Given the description of an element on the screen output the (x, y) to click on. 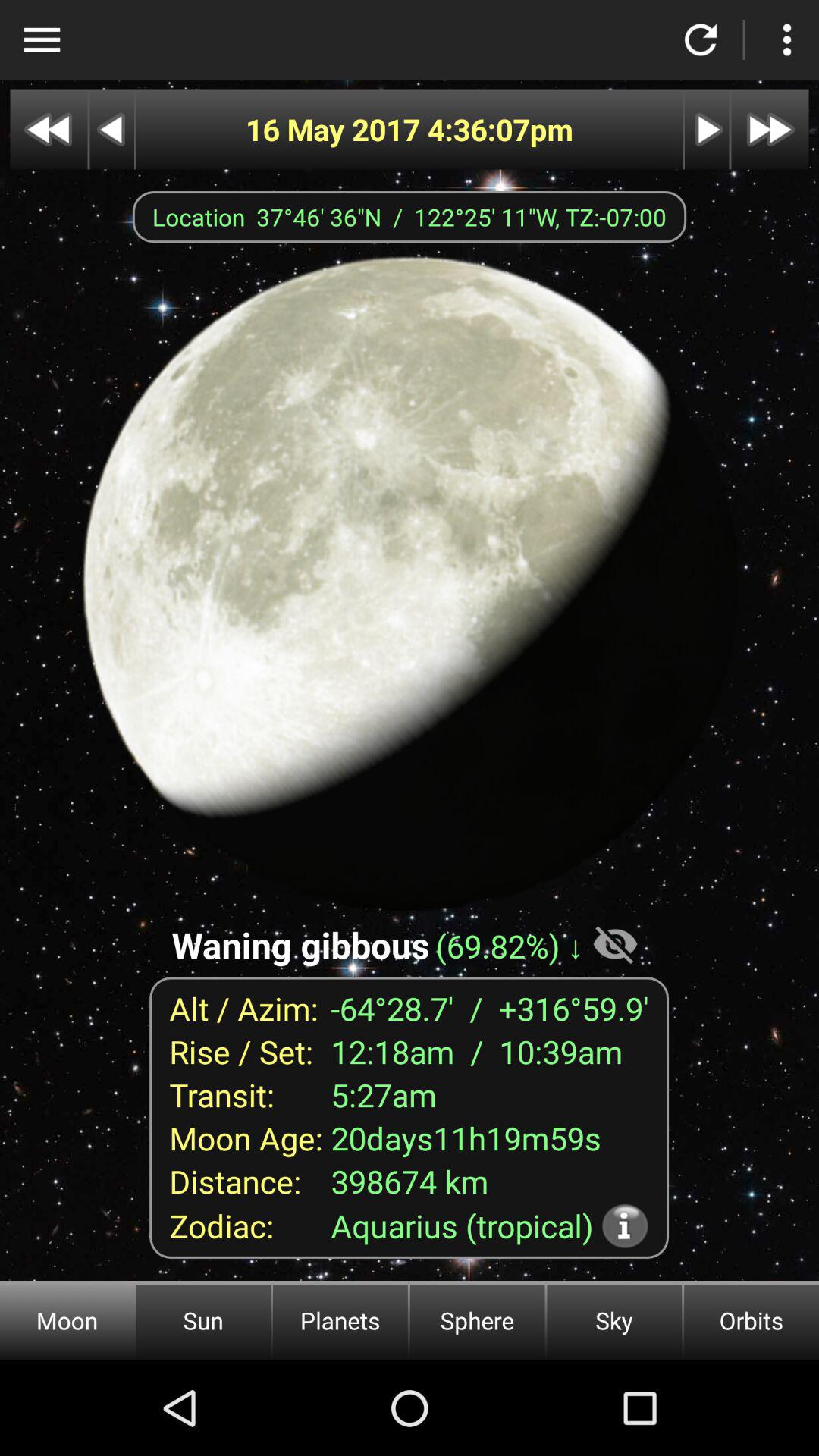
refresh screen (700, 39)
